Given the description of an element on the screen output the (x, y) to click on. 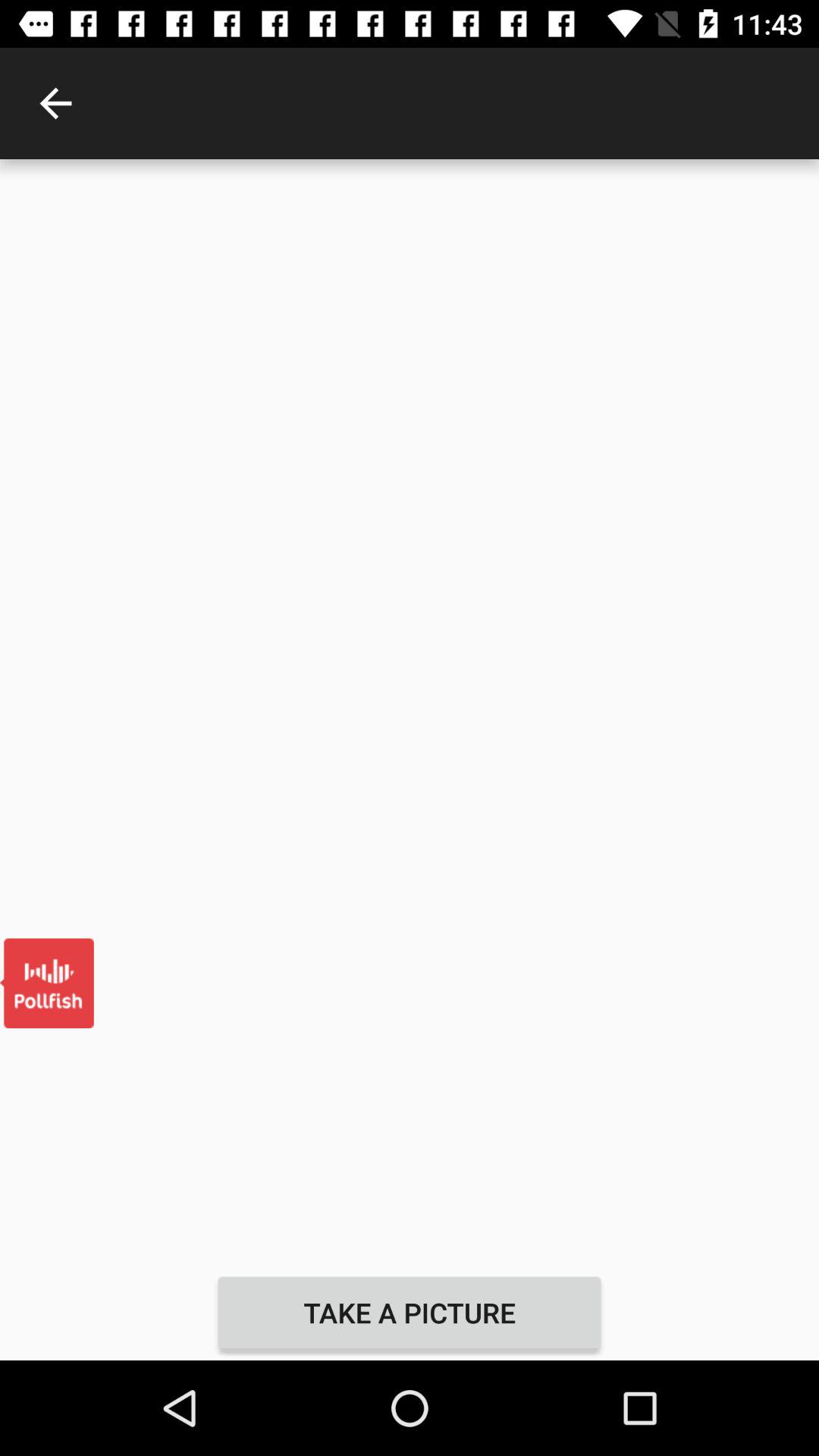
tap the icon at the top left corner (55, 103)
